Given the description of an element on the screen output the (x, y) to click on. 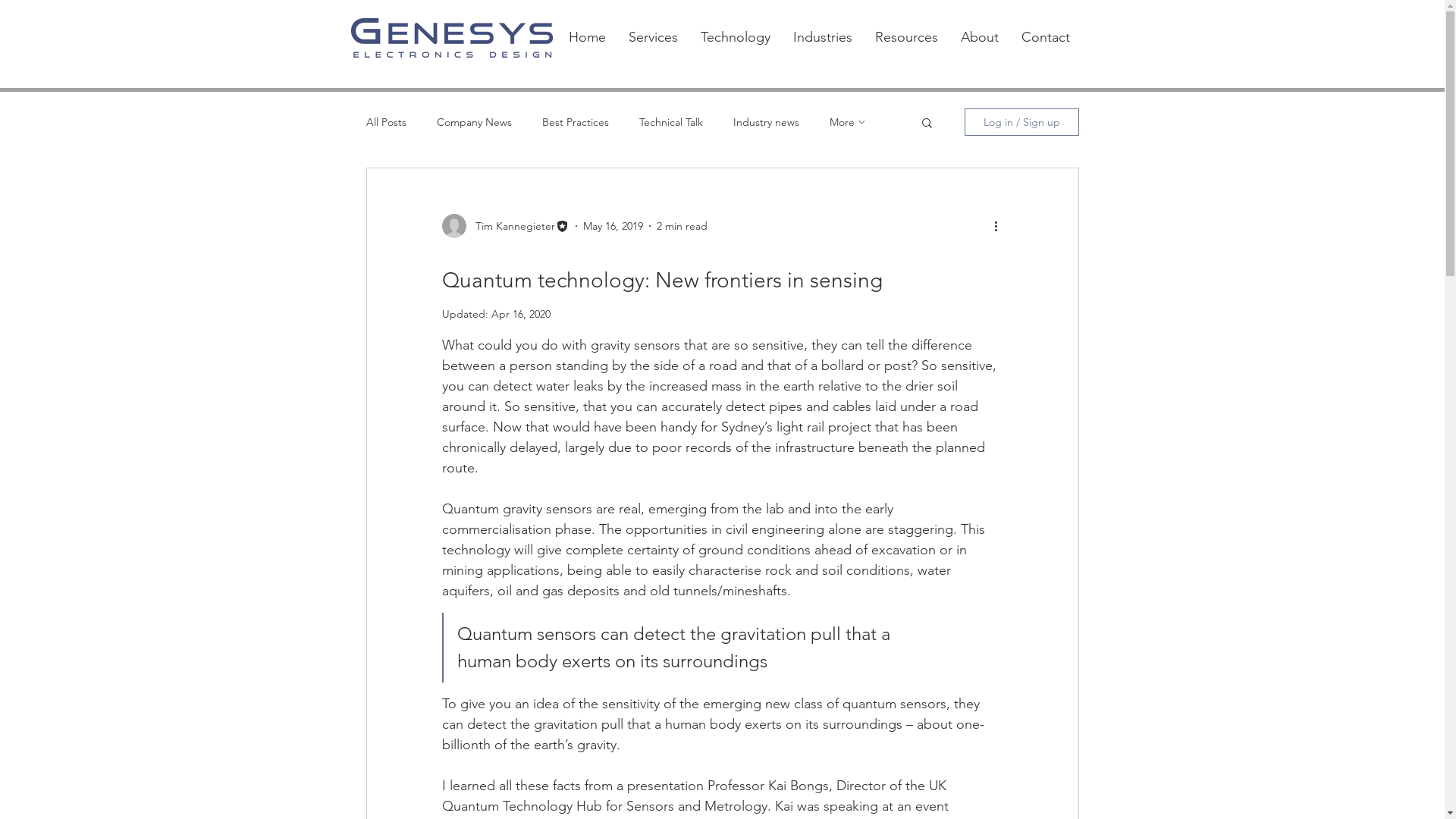
All Posts Element type: text (385, 121)
Log in / Sign up Element type: text (1021, 121)
Technical Talk Element type: text (670, 121)
Company News Element type: text (473, 121)
Best Practices Element type: text (574, 121)
Industry news Element type: text (765, 121)
Contact Element type: text (1045, 37)
Home Element type: text (586, 37)
